Given the description of an element on the screen output the (x, y) to click on. 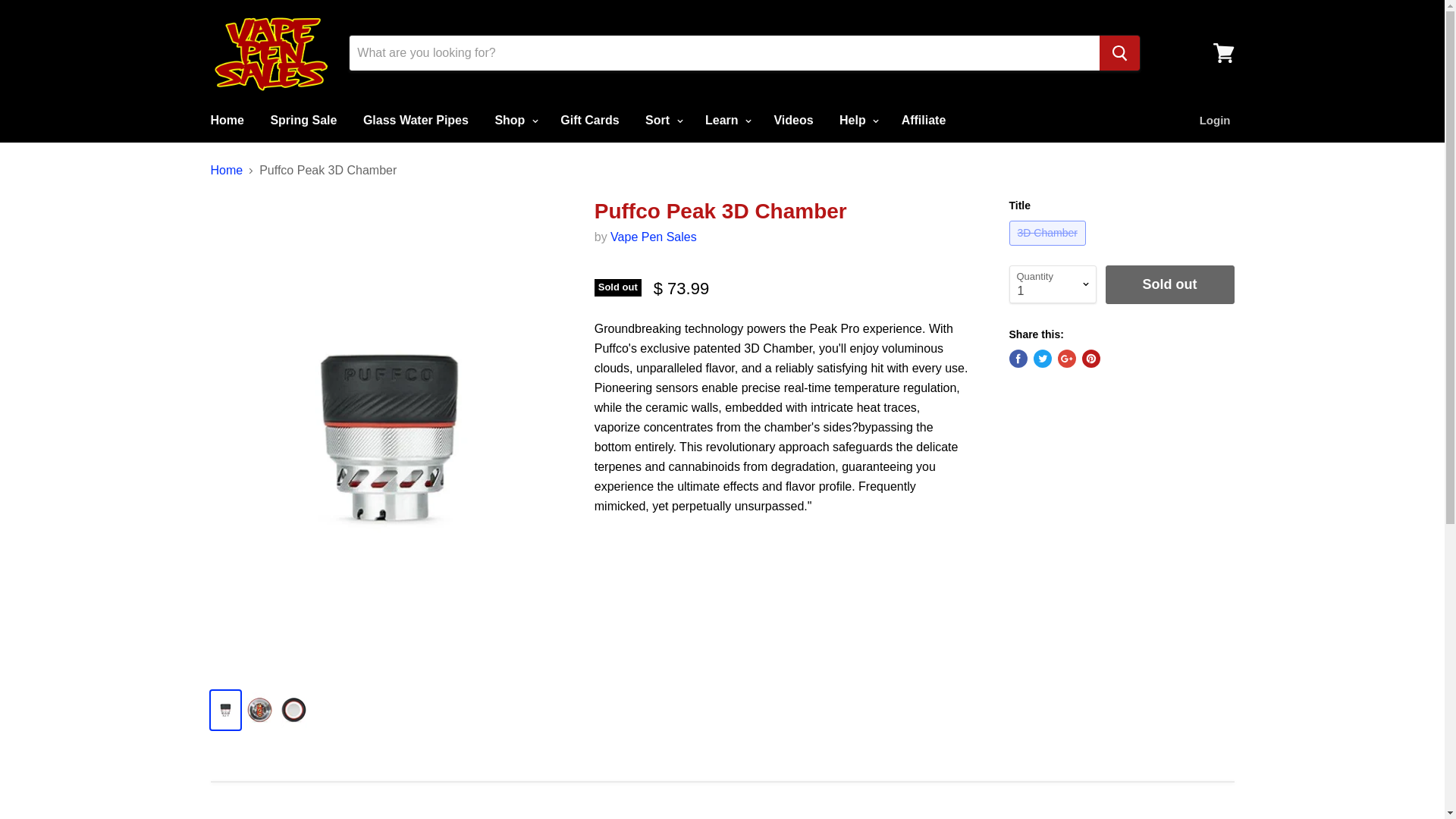
Gift Cards (589, 120)
Home (226, 120)
View cart (1223, 53)
Sort (661, 120)
Vape Pen Sales (653, 236)
Learn (726, 120)
Help (857, 120)
Affiliate (923, 120)
Glass Water Pipes (416, 120)
Login (1215, 120)
